Given the description of an element on the screen output the (x, y) to click on. 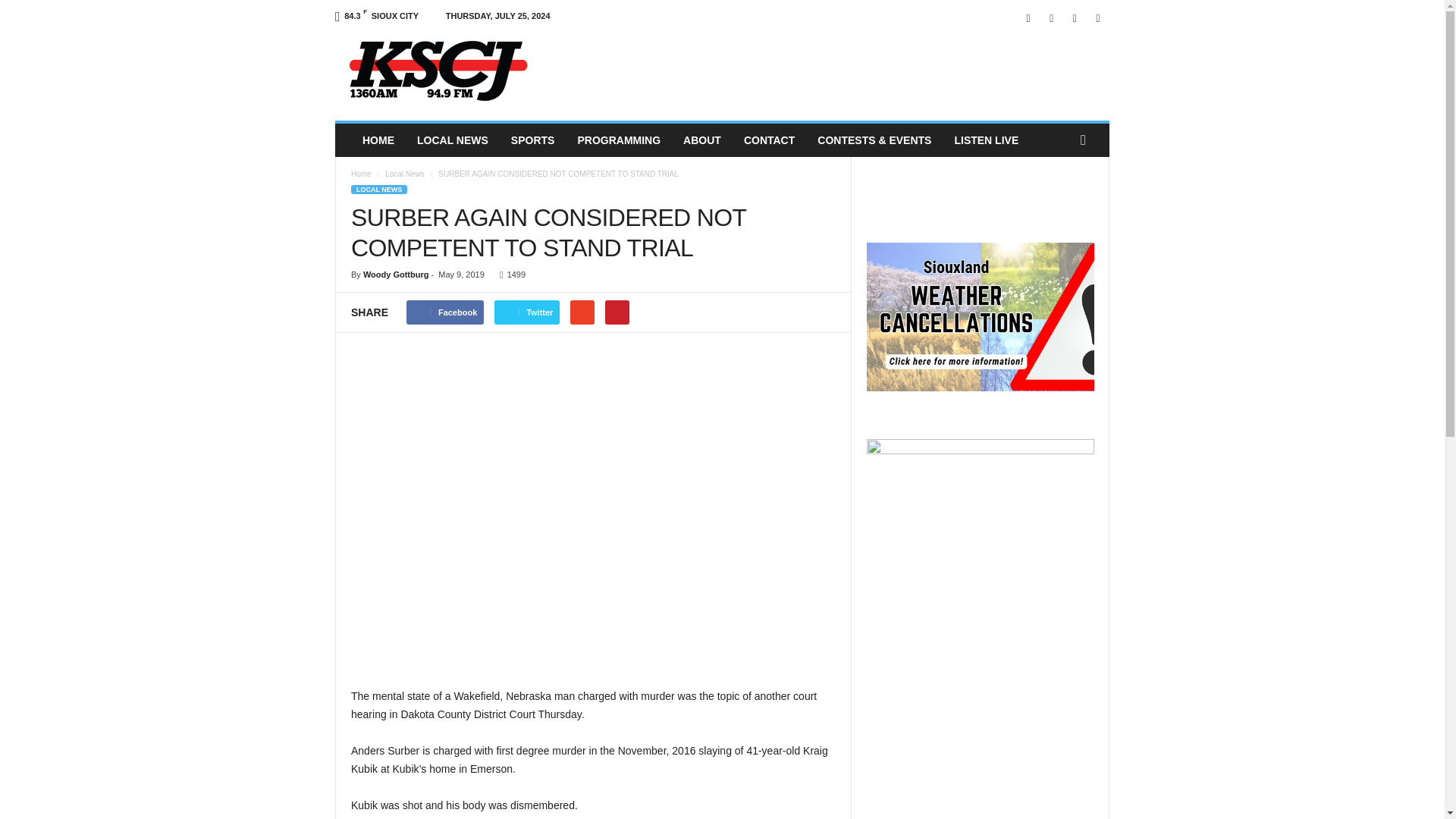
Instagram (1051, 18)
Twitter (1074, 18)
View all posts in Local News (405, 173)
Facebook (1027, 18)
Youtube (1097, 18)
